Given the description of an element on the screen output the (x, y) to click on. 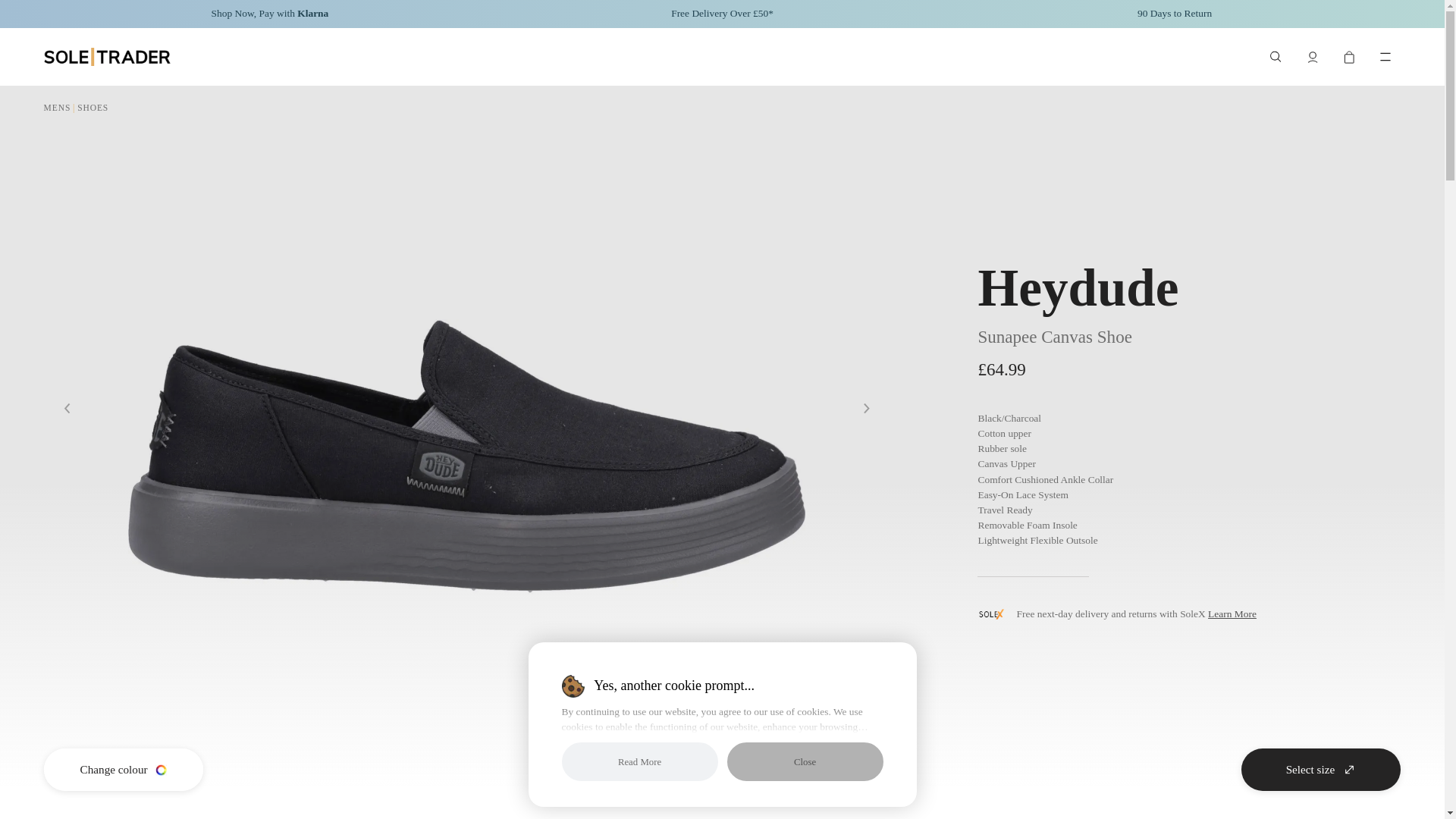
Add to wishlist (660, 769)
SHOES (92, 107)
Shop Now, Pay with Klarna (270, 13)
MENS (57, 107)
Select size (1320, 769)
Change colour (123, 769)
Your bag (1348, 56)
90 Days to Return (1174, 13)
Learn More (1232, 613)
Menu (1385, 56)
Heydude (1076, 287)
Search (1275, 56)
In-store pickup (783, 769)
Account (1312, 56)
